Given the description of an element on the screen output the (x, y) to click on. 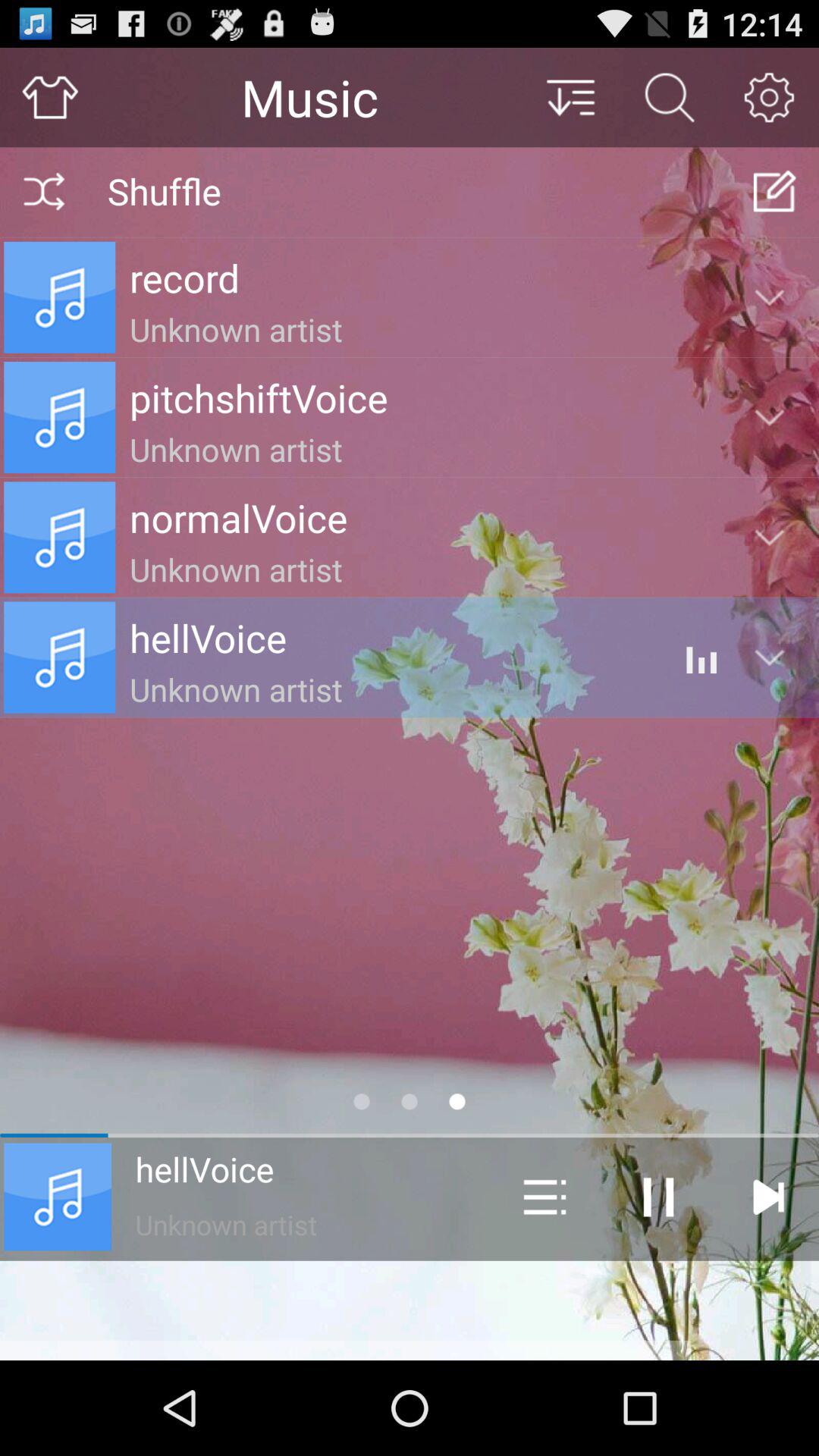
turn off app below the unknown artist app (409, 1310)
